Given the description of an element on the screen output the (x, y) to click on. 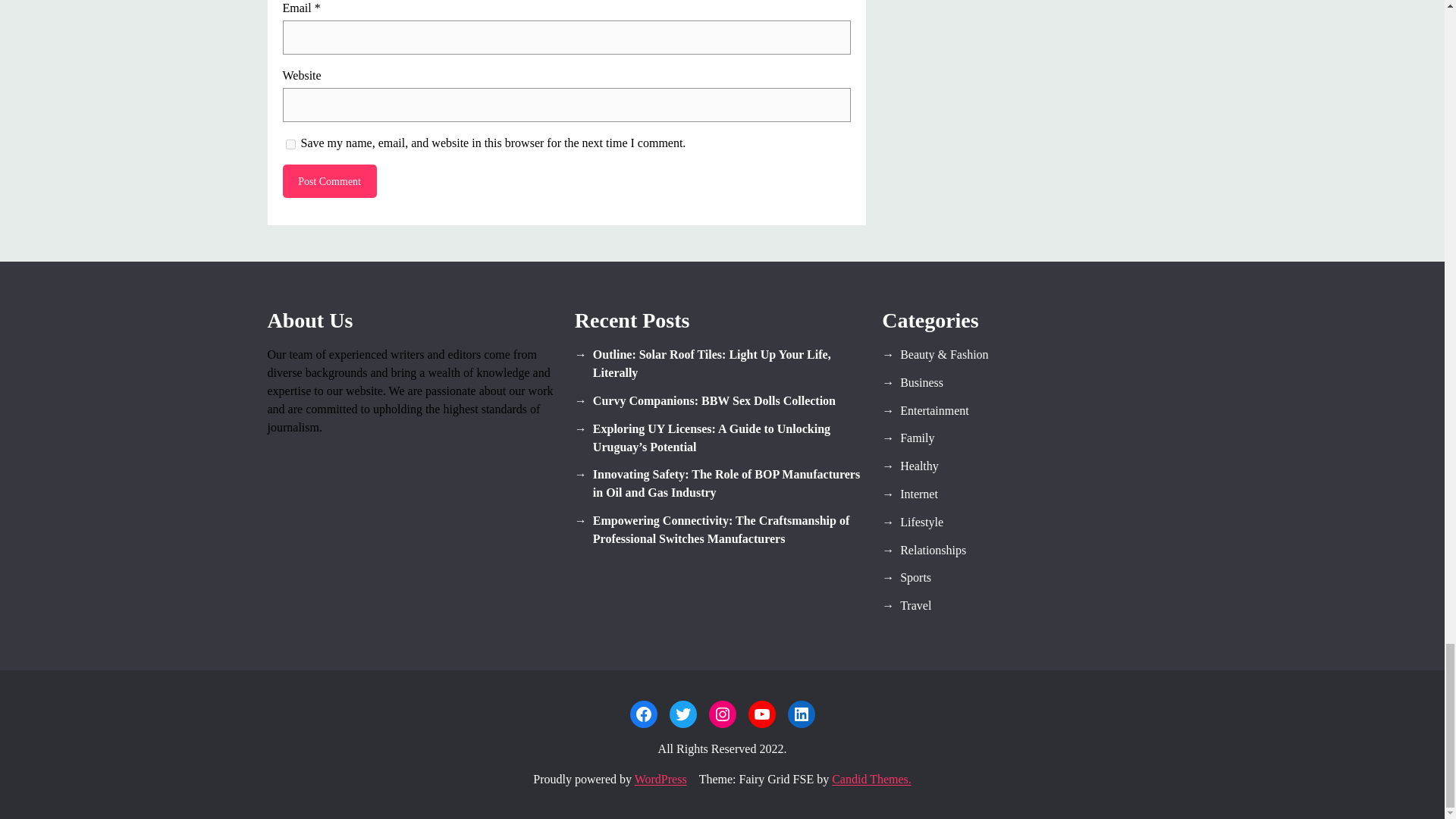
Post Comment (328, 181)
Post Comment (328, 181)
Outline: Solar Roof Tiles: Light Up Your Life, Literally (722, 363)
Curvy Companions: BBW Sex Dolls Collection (722, 401)
